Given the description of an element on the screen output the (x, y) to click on. 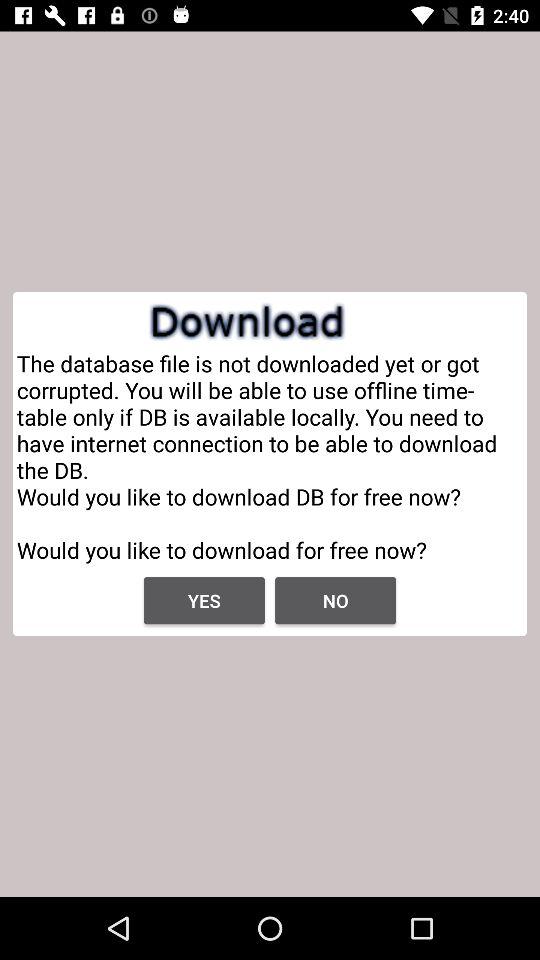
select yes (204, 600)
